Given the description of an element on the screen output the (x, y) to click on. 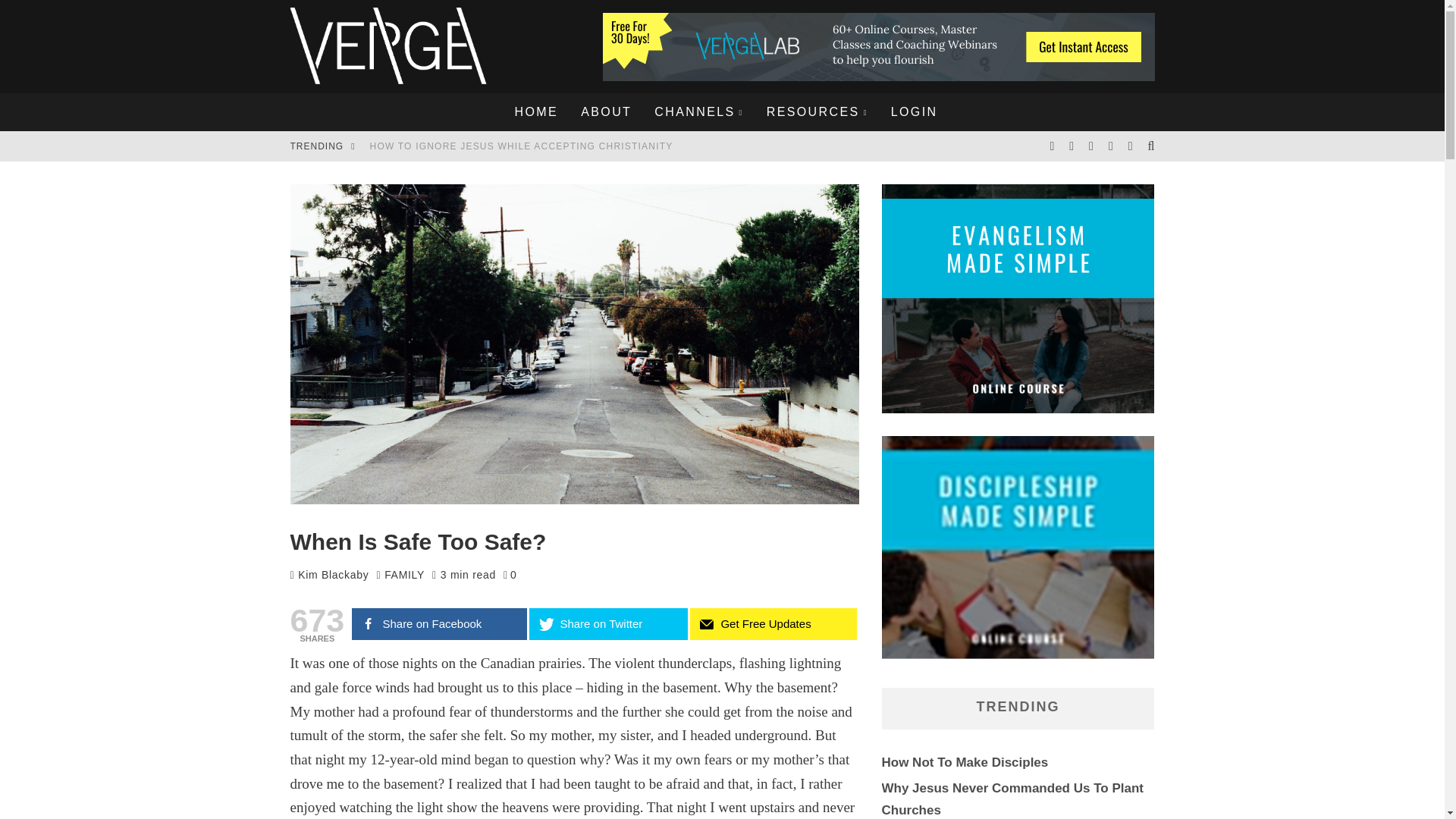
HOME (536, 112)
RESOURCES (817, 112)
HOW TO IGNORE JESUS WHILE ACCEPTING CHRISTIANITY (520, 145)
LOGIN (914, 112)
CHANNELS (698, 112)
ABOUT (606, 112)
How to Ignore Jesus While Accepting Christianity (520, 145)
